Given the description of an element on the screen output the (x, y) to click on. 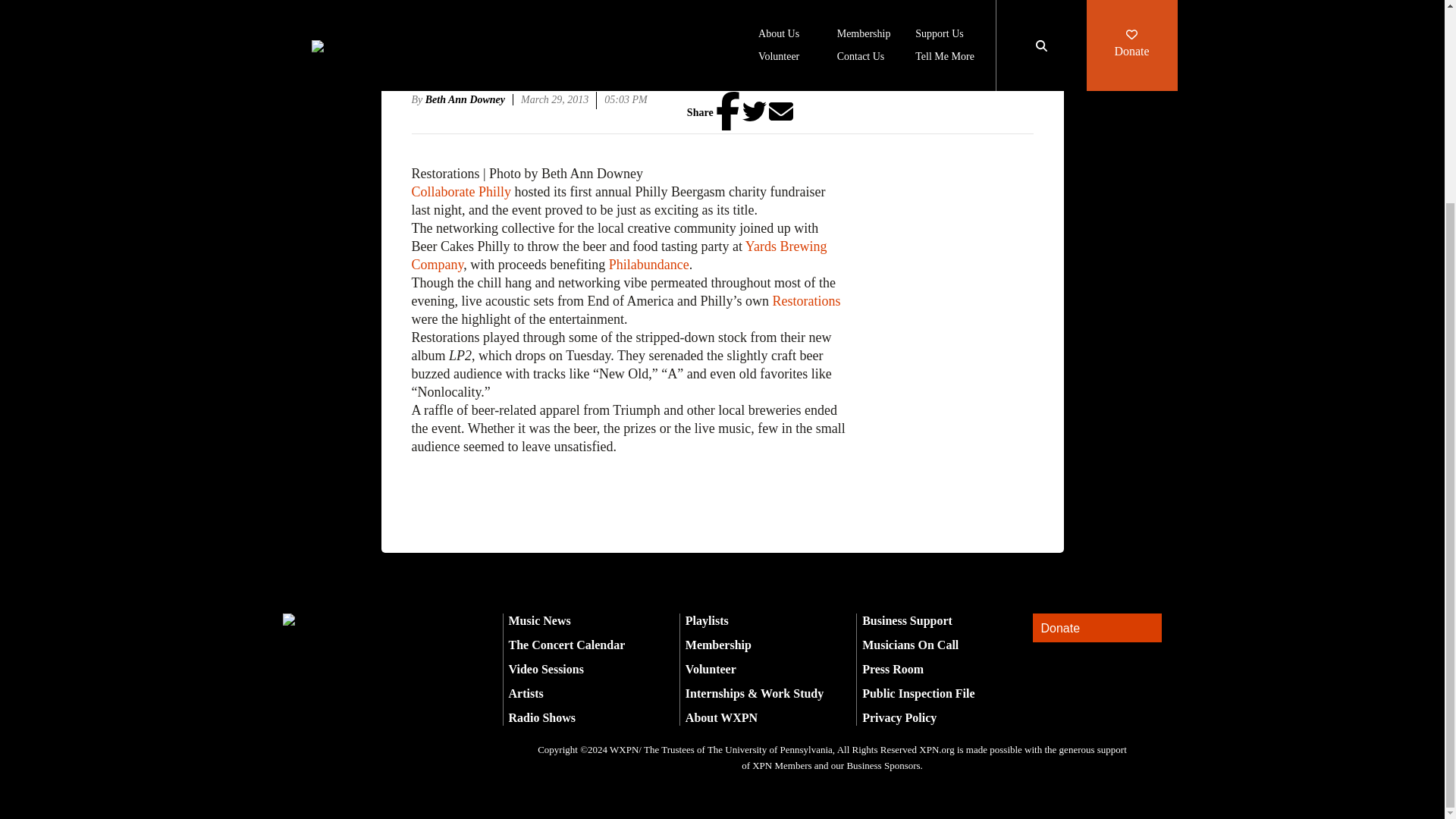
Radio Shows (541, 717)
Privacy Policy (898, 717)
Business Support (906, 620)
Beth Ann Downey (469, 99)
About WXPN (721, 717)
Philabundance (648, 264)
Artists (525, 693)
Public Inspection File (917, 693)
Donate (1096, 627)
Yards Brewing Company (618, 255)
